Given the description of an element on the screen output the (x, y) to click on. 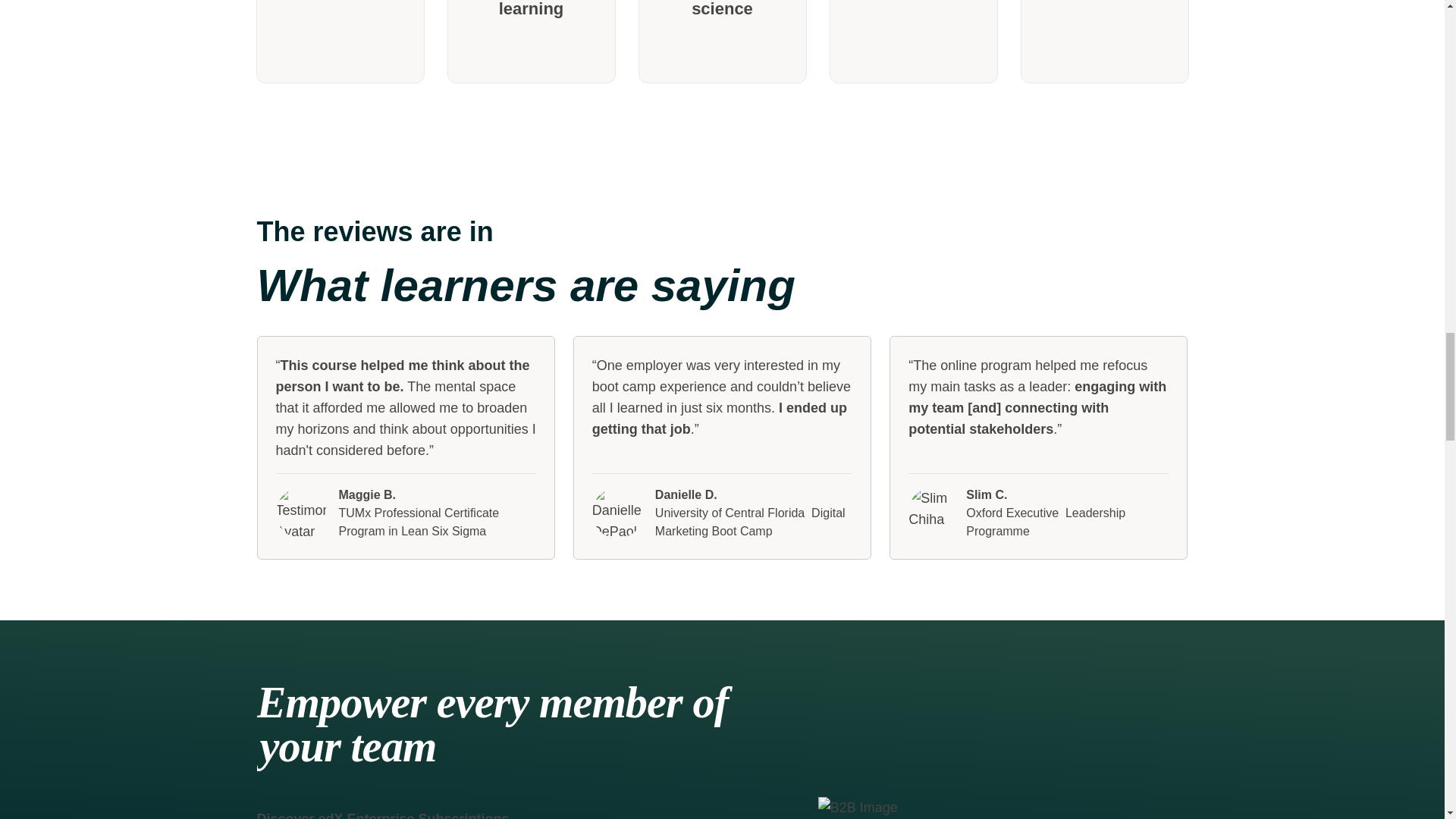
Machine learning (530, 41)
Writing (913, 41)
Computer science (722, 41)
Python (340, 41)
Statistics (1104, 41)
